Given the description of an element on the screen output the (x, y) to click on. 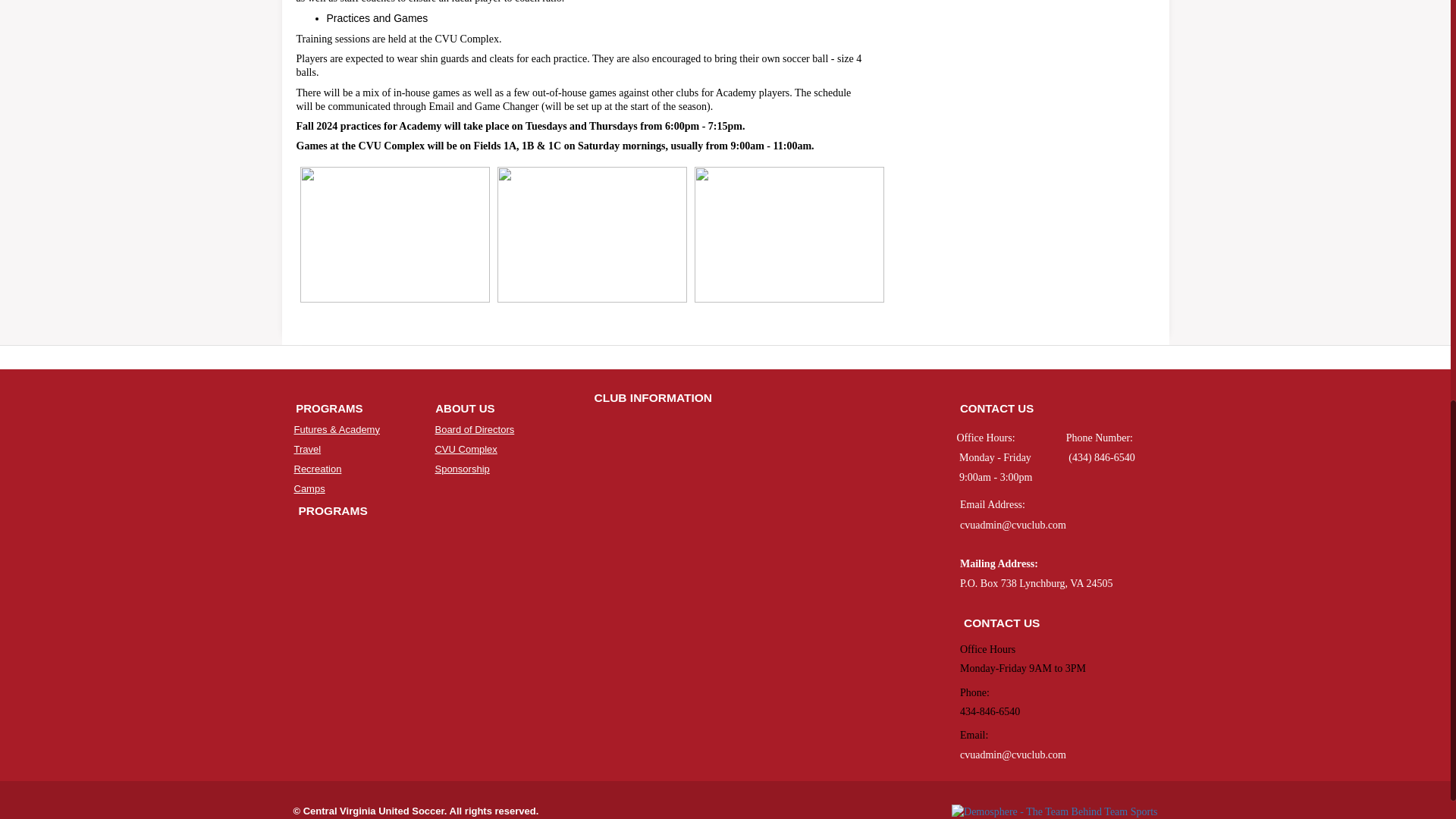
Travel (307, 449)
Camps (309, 488)
Recreation (318, 469)
CVU Complex (464, 449)
Sponsorship (461, 469)
Board of Directors (473, 429)
